Given the description of an element on the screen output the (x, y) to click on. 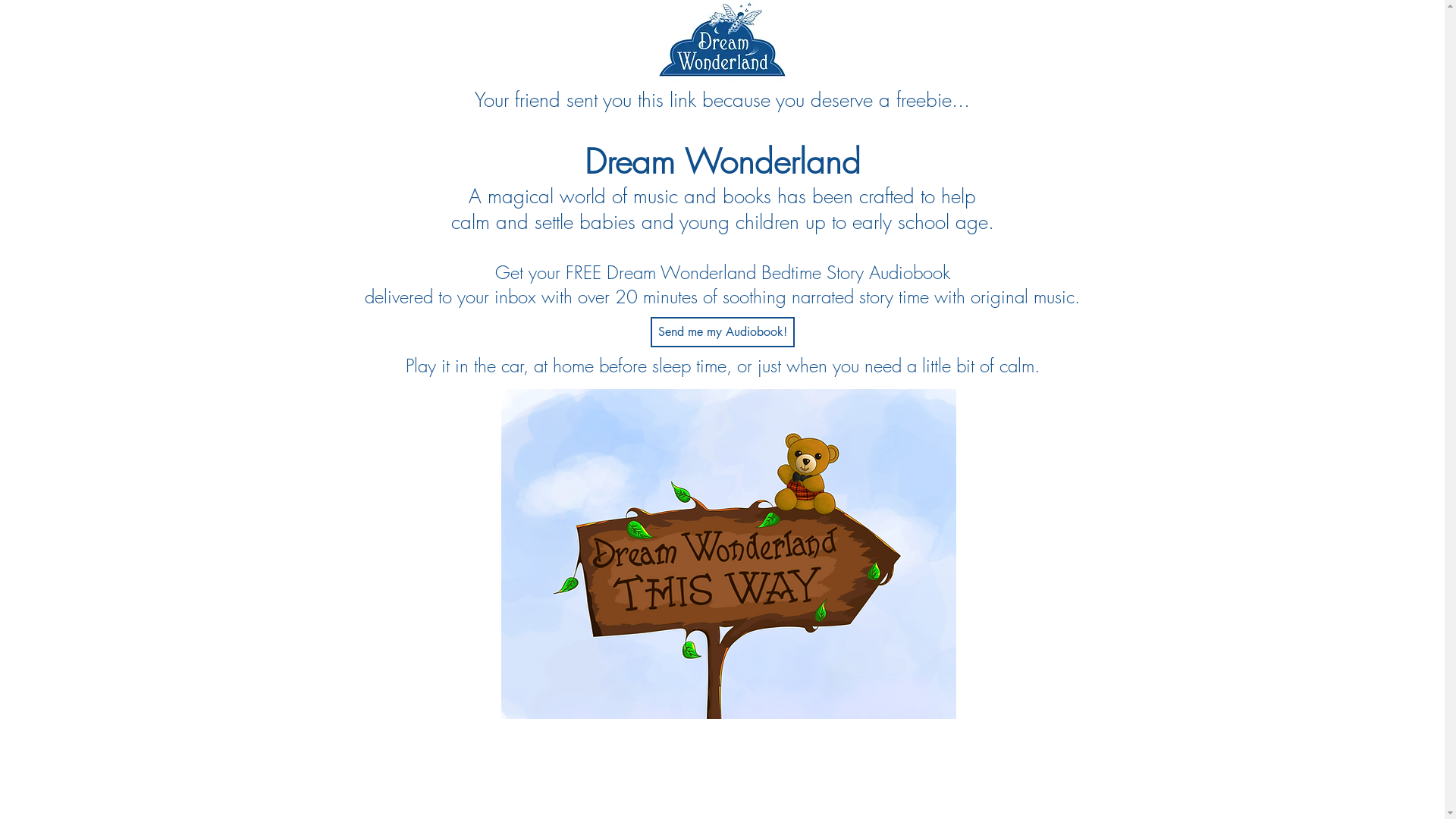
Send me my Audiobook! Element type: text (722, 331)
